Given the description of an element on the screen output the (x, y) to click on. 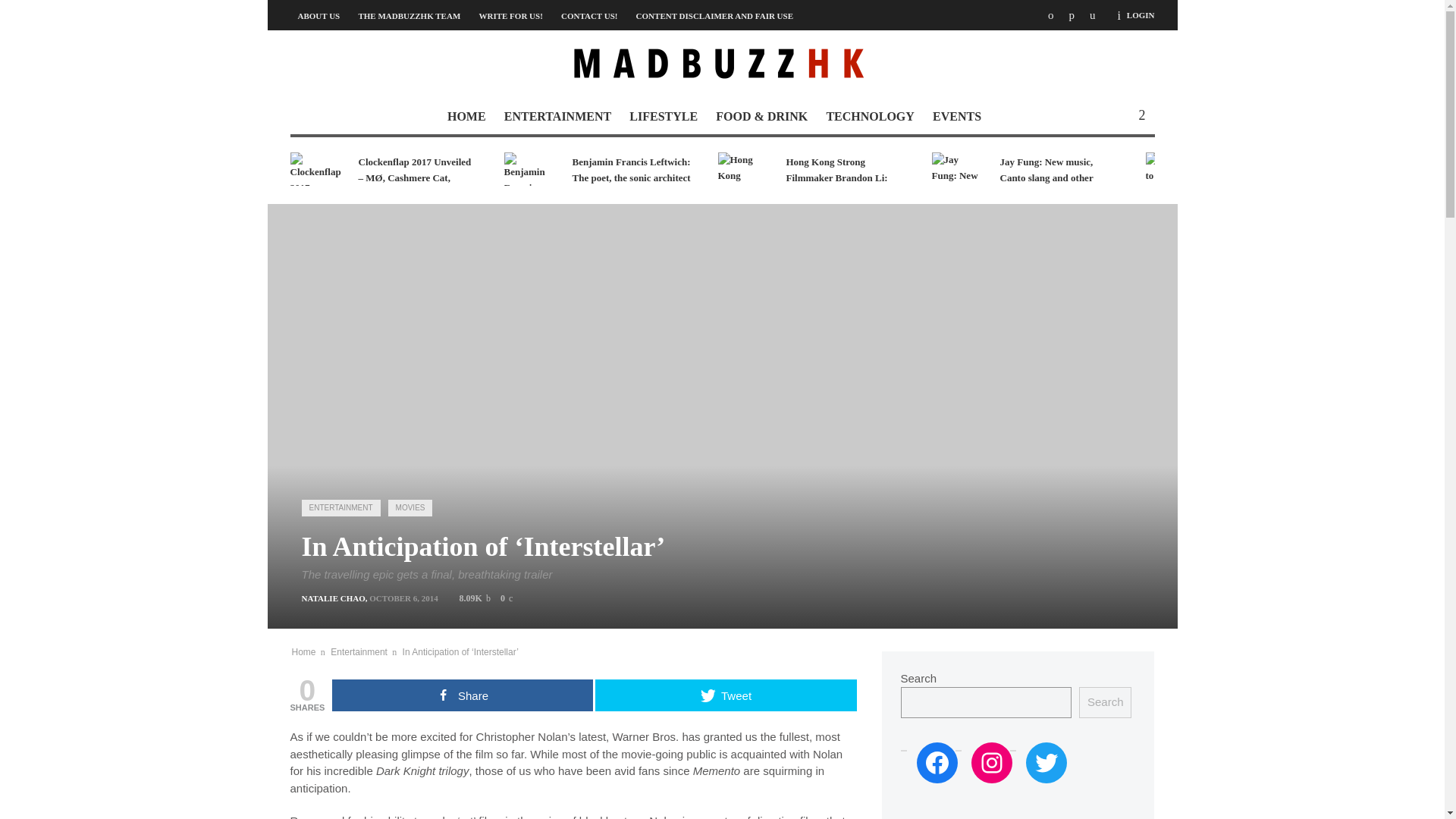
ENTERTAINMENT (557, 116)
LOGIN (1140, 14)
Log In (847, 511)
THE MADBUZZHK TEAM (408, 15)
HOME (466, 116)
WRITE FOR US! (510, 15)
Login (1140, 14)
CONTACT US! (588, 15)
ABOUT US (318, 15)
CONTENT DISCLAIMER AND FAIR USE (714, 15)
Get New Password (813, 454)
